Given the description of an element on the screen output the (x, y) to click on. 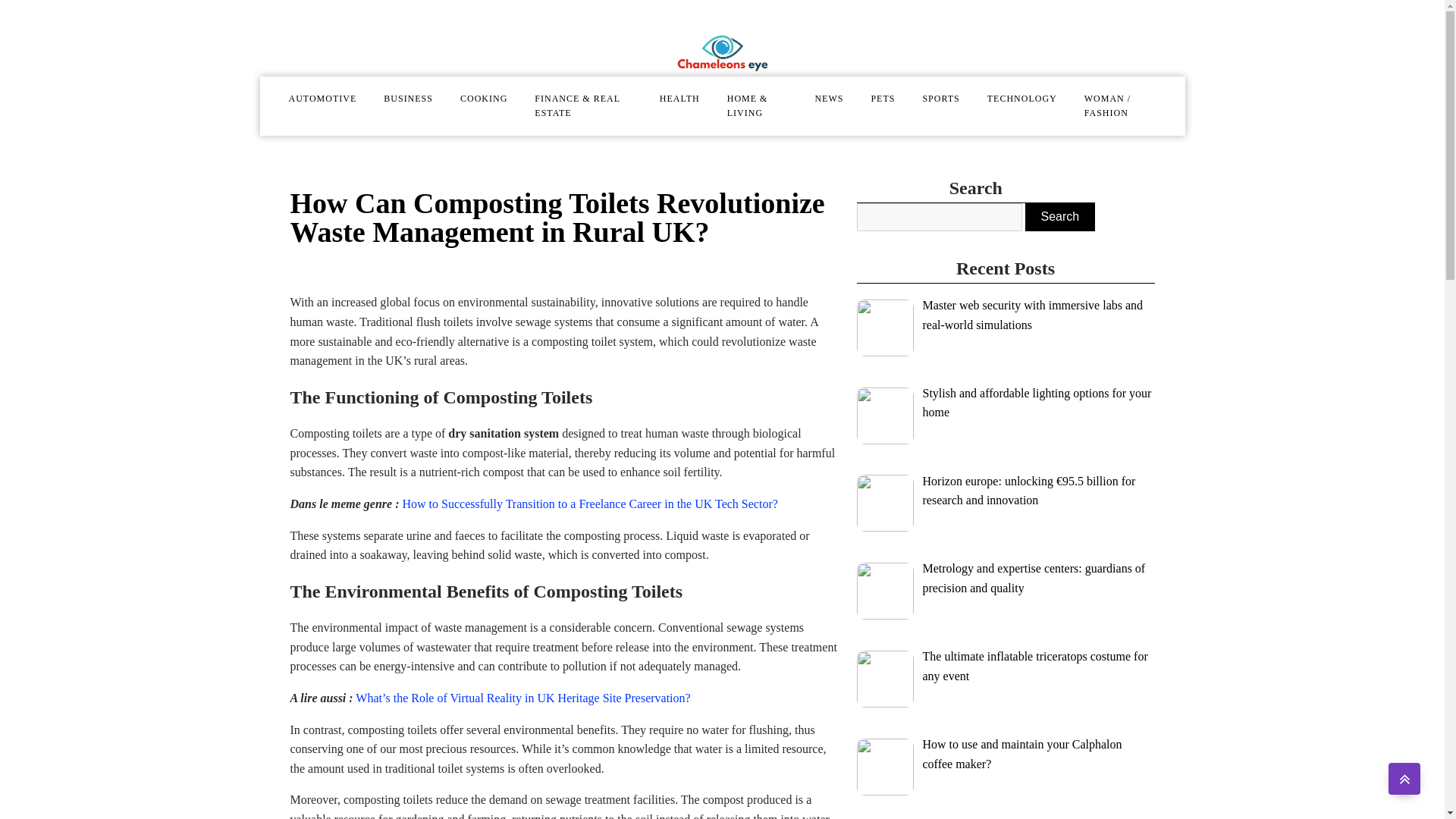
BUSINESS (407, 98)
COOKING (483, 98)
AUTOMOTIVE (322, 98)
SPORTS (940, 98)
NEWS (828, 98)
HEALTH (679, 98)
PETS (882, 98)
